Given the description of an element on the screen output the (x, y) to click on. 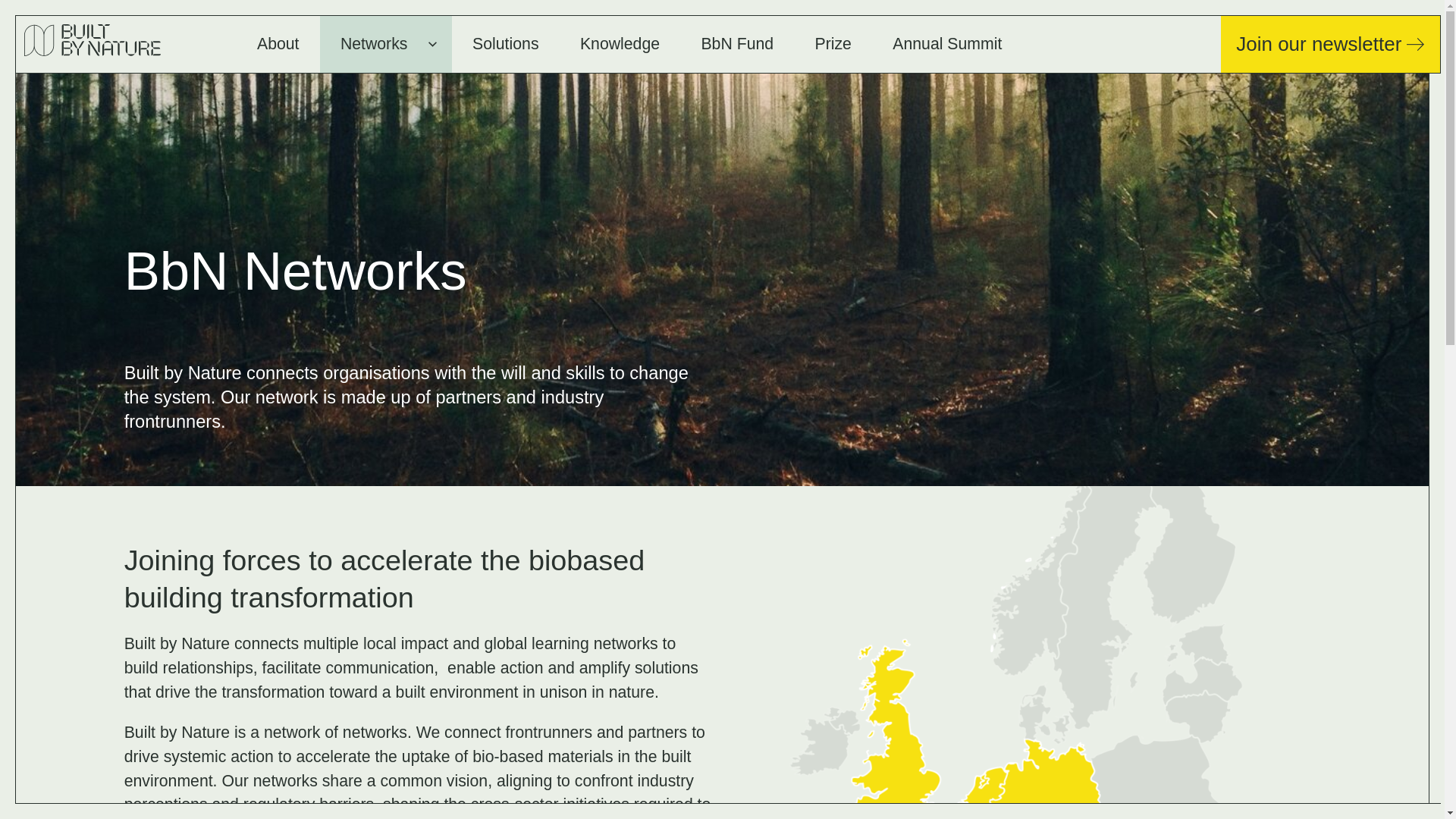
Built by nature logo (92, 40)
BbN Fund (736, 43)
Solutions (505, 43)
Prize (832, 43)
Networks (1330, 43)
Built by nature logo (374, 43)
Knowledge (92, 43)
Annual Summit (620, 43)
About (947, 43)
